Given the description of an element on the screen output the (x, y) to click on. 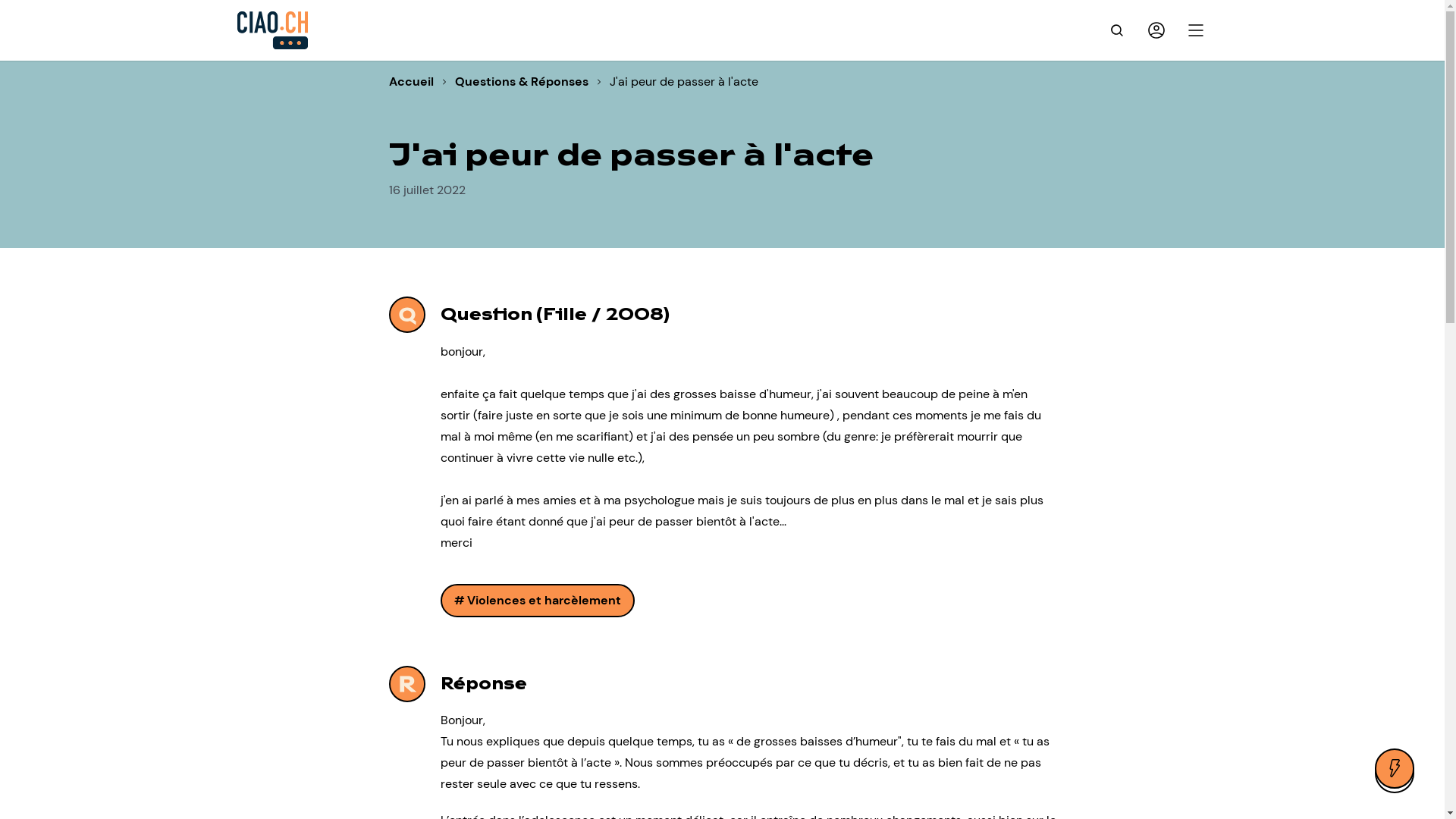
Recherche Element type: text (1116, 30)
Ouvrir le menu Element type: text (1195, 30)
Champ requis Element type: hover (1081, 162)
Accueil Element type: text (410, 81)
Champ requis Element type: hover (1046, 83)
